Given the description of an element on the screen output the (x, y) to click on. 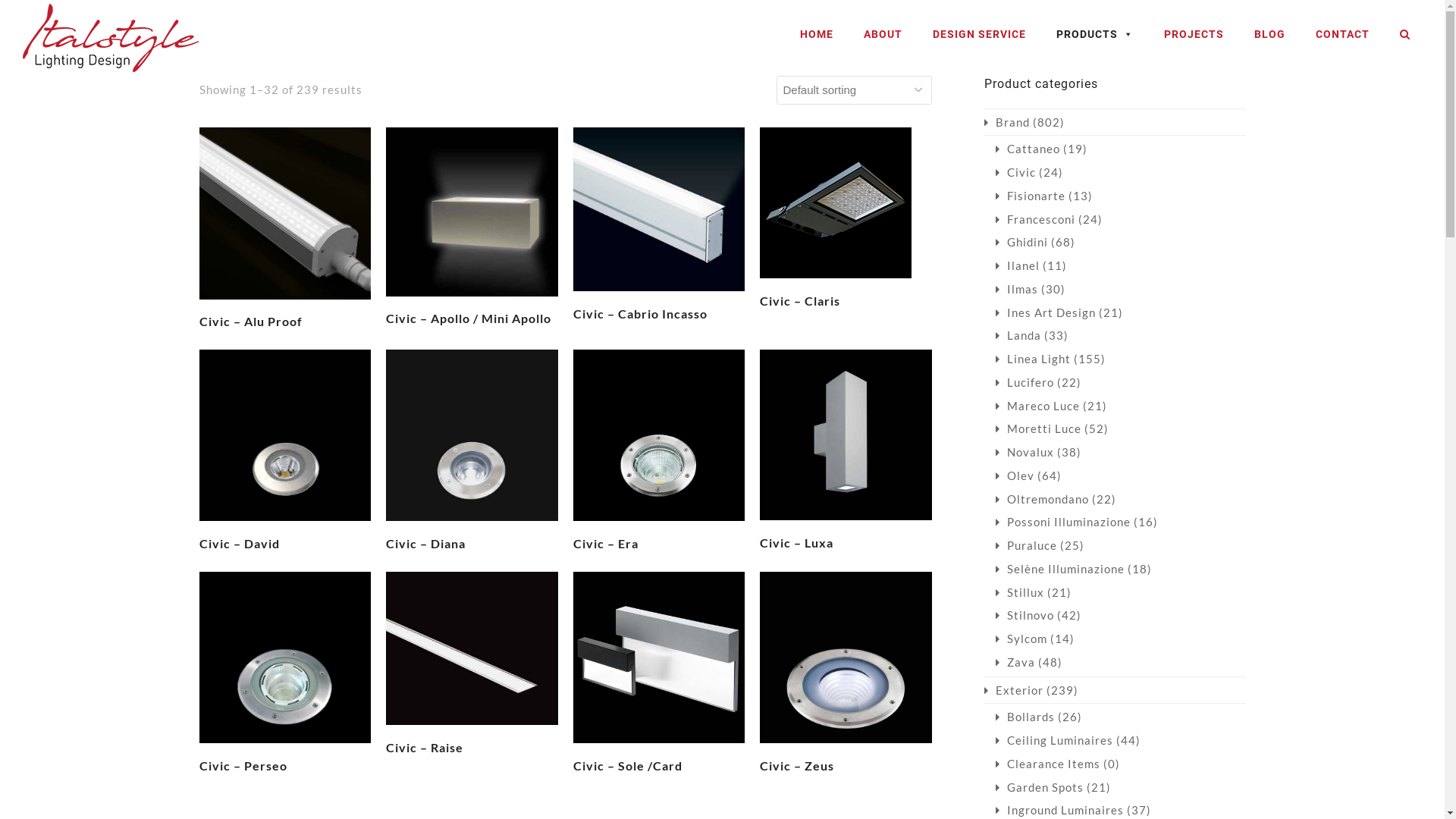
Ines Art Design Element type: text (1044, 312)
Francesconi Element type: text (1034, 218)
Moretti Luce Element type: text (1037, 428)
Exterior Element type: text (1013, 689)
BLOG Element type: text (1269, 33)
Ghidini Element type: text (1020, 241)
Stillux Element type: text (1018, 592)
Mareco Luce Element type: text (1036, 405)
Sylcom Element type: text (1020, 638)
Fisionarte Element type: text (1029, 195)
Possoni Illuminazione Element type: text (1061, 521)
CONTACT Element type: text (1342, 33)
Ilmas Element type: text (1015, 288)
Ceiling Luminaires Element type: text (1053, 739)
Linea Light Element type: text (1032, 358)
PROJECTS Element type: text (1193, 33)
Bollards Element type: text (1024, 716)
Olev Element type: text (1013, 475)
Oltremondano Element type: text (1041, 498)
Cattaneo Element type: text (1026, 148)
Civic Element type: text (1014, 171)
DESIGN SERVICE Element type: text (979, 33)
Stilnovo Element type: text (1023, 614)
HOME Element type: text (816, 33)
Inground Luminaires Element type: text (1058, 809)
Puraluce Element type: text (1025, 545)
Clearance Items Element type: text (1046, 763)
ABOUT Element type: text (883, 33)
Zava Element type: text (1014, 661)
Brand Element type: text (1006, 121)
Landa Element type: text (1017, 335)
Novalux Element type: text (1023, 451)
Garden Spots Element type: text (1038, 786)
PRODUCTS Element type: text (1094, 33)
Ilanel Element type: text (1016, 265)
Lucifero Element type: text (1023, 382)
